Given the description of an element on the screen output the (x, y) to click on. 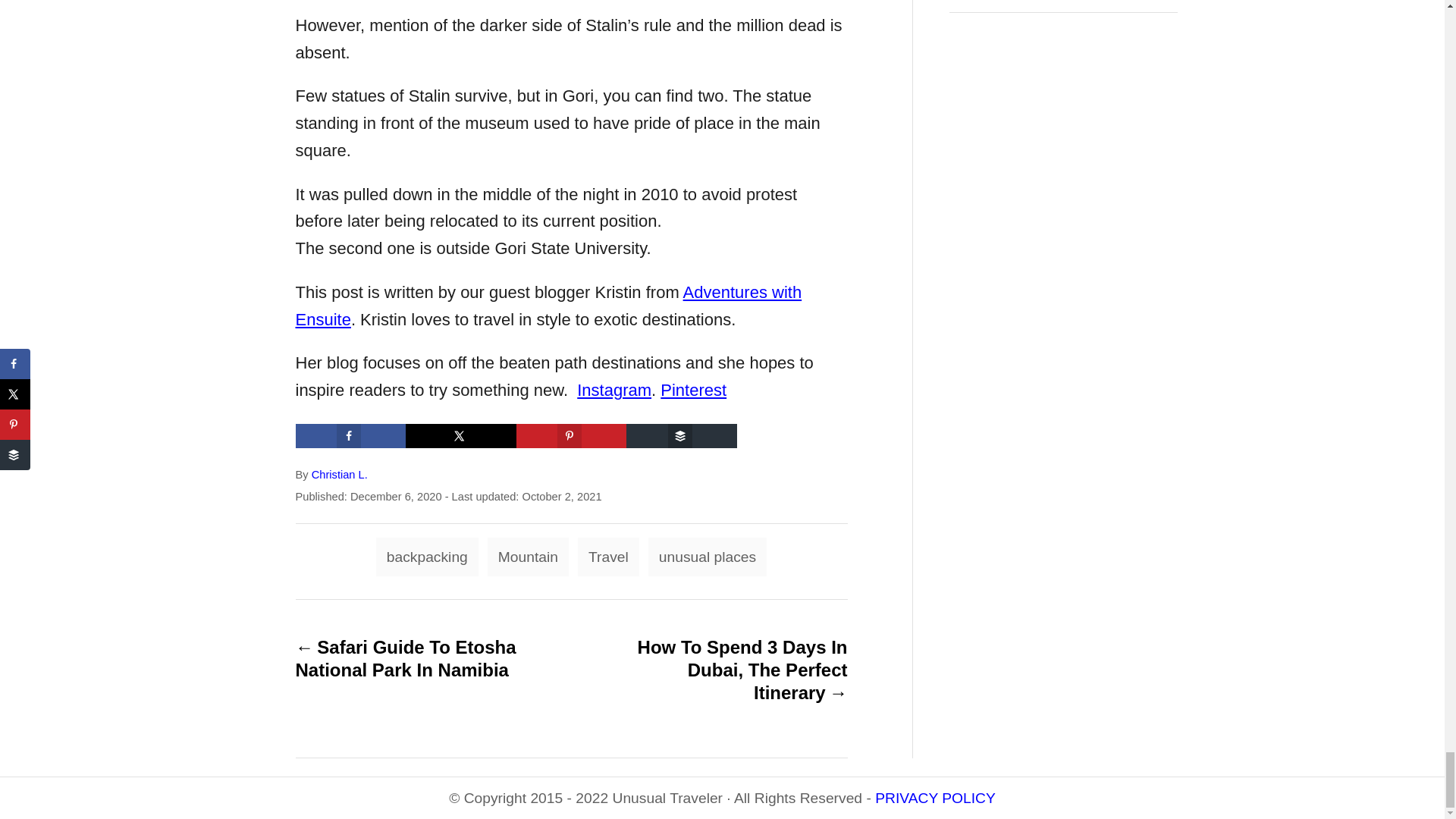
Share on X (461, 435)
Share on Facebook (350, 435)
Save to Pinterest (571, 435)
Share on Buffer (681, 435)
